Given the description of an element on the screen output the (x, y) to click on. 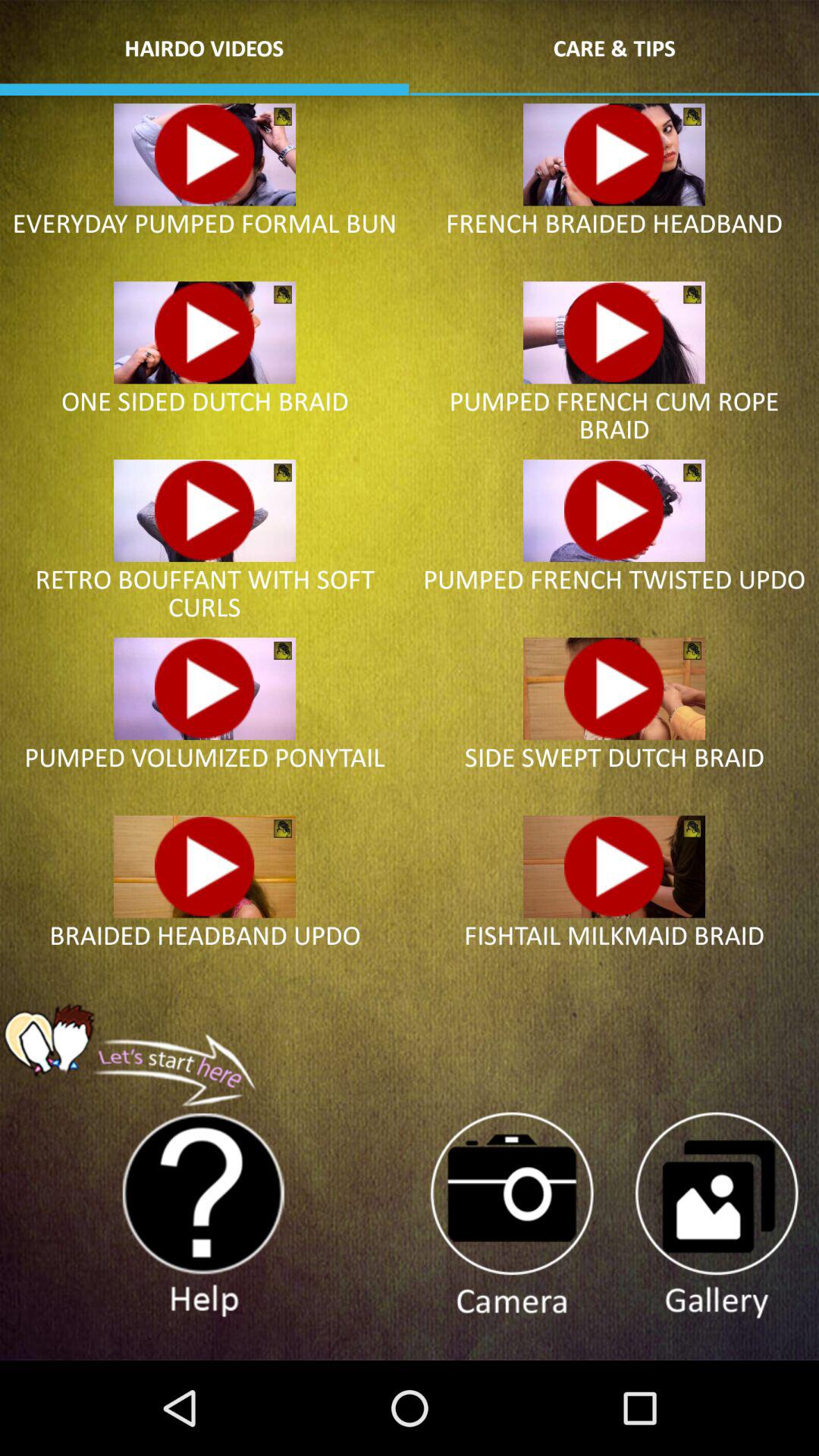
open camera (511, 1215)
